Given the description of an element on the screen output the (x, y) to click on. 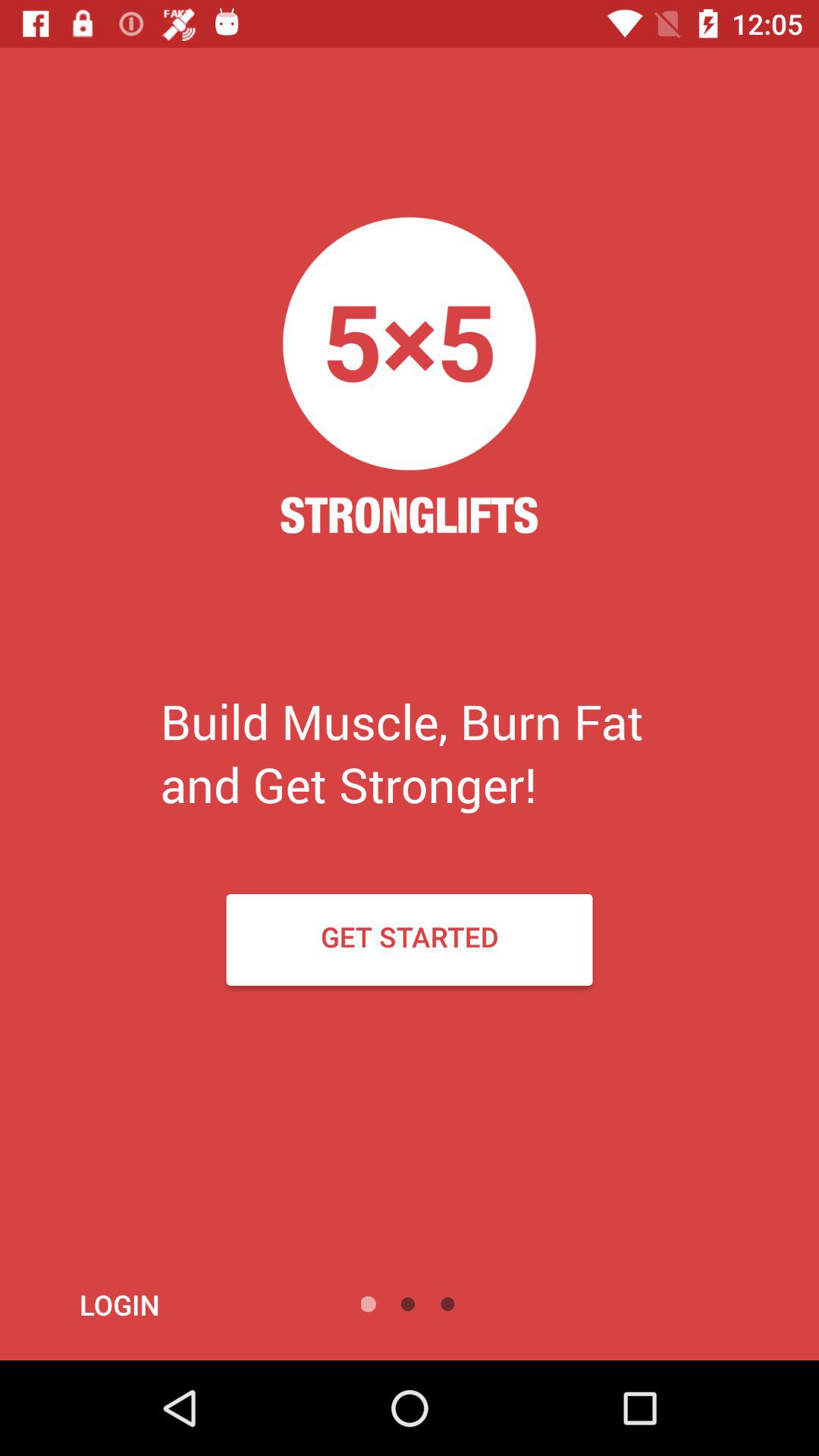
select the login (160, 1304)
